Given the description of an element on the screen output the (x, y) to click on. 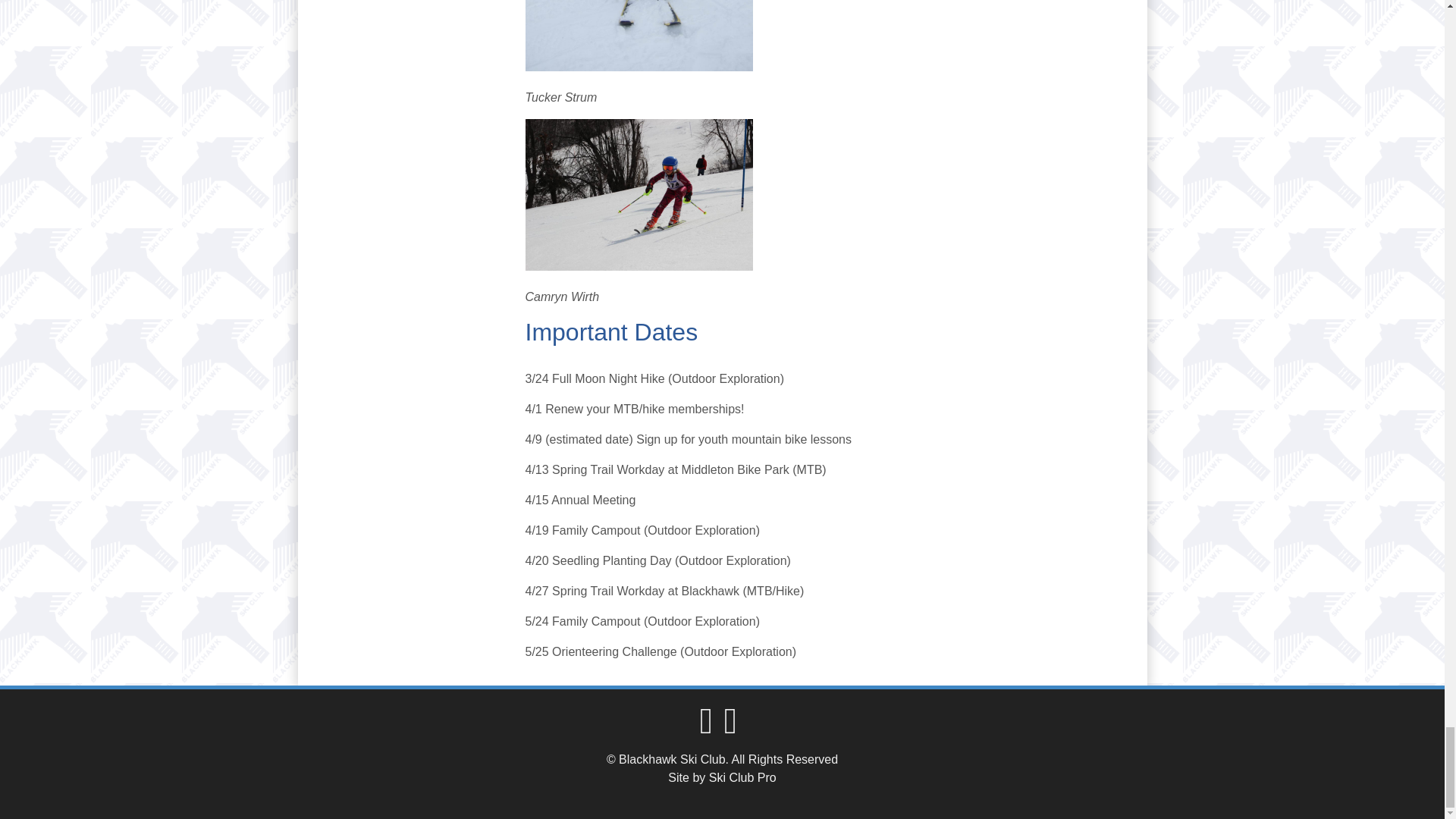
Facebook (710, 728)
Instagram (734, 728)
